Given the description of an element on the screen output the (x, y) to click on. 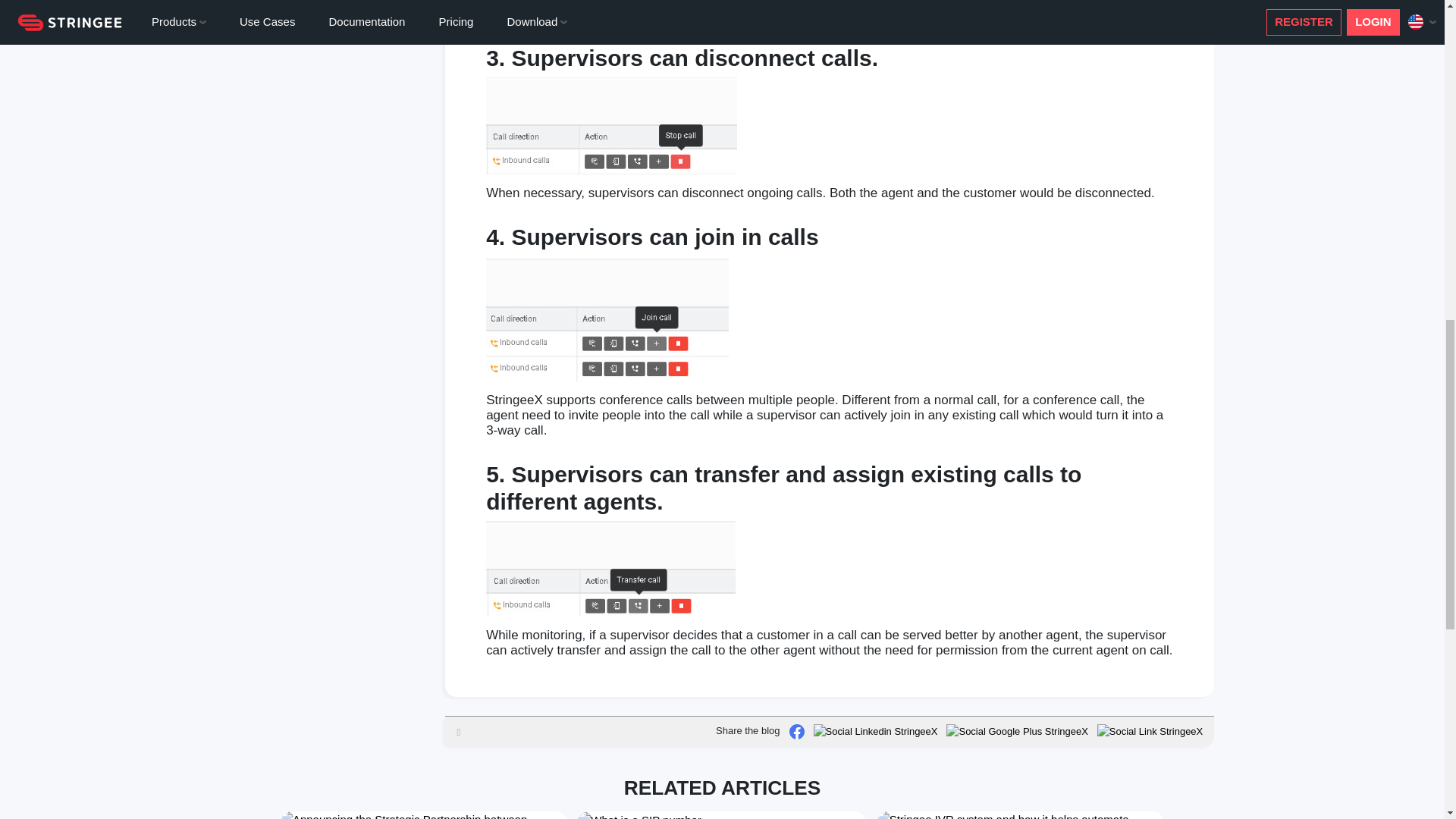
Social Google Plus StringeeX Icons (1016, 731)
Social Link StringeeX Icons (1149, 731)
What is a SIP number (639, 815)
Social LinkedIn StringeeX Icons (874, 731)
Social Facebook StringeeX Icons (796, 731)
